Given the description of an element on the screen output the (x, y) to click on. 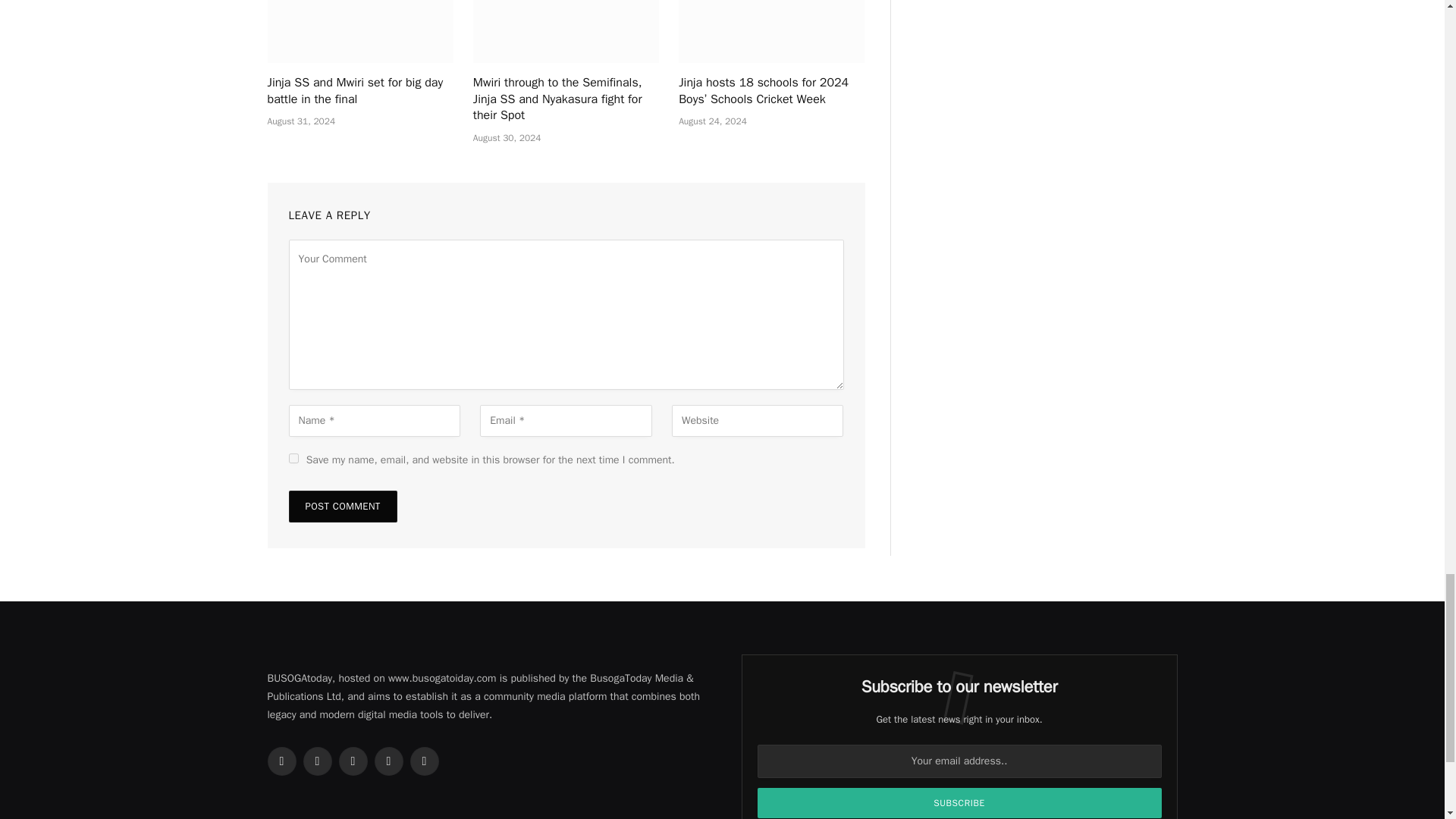
Post Comment (342, 506)
yes (293, 458)
Subscribe (958, 802)
